Given the description of an element on the screen output the (x, y) to click on. 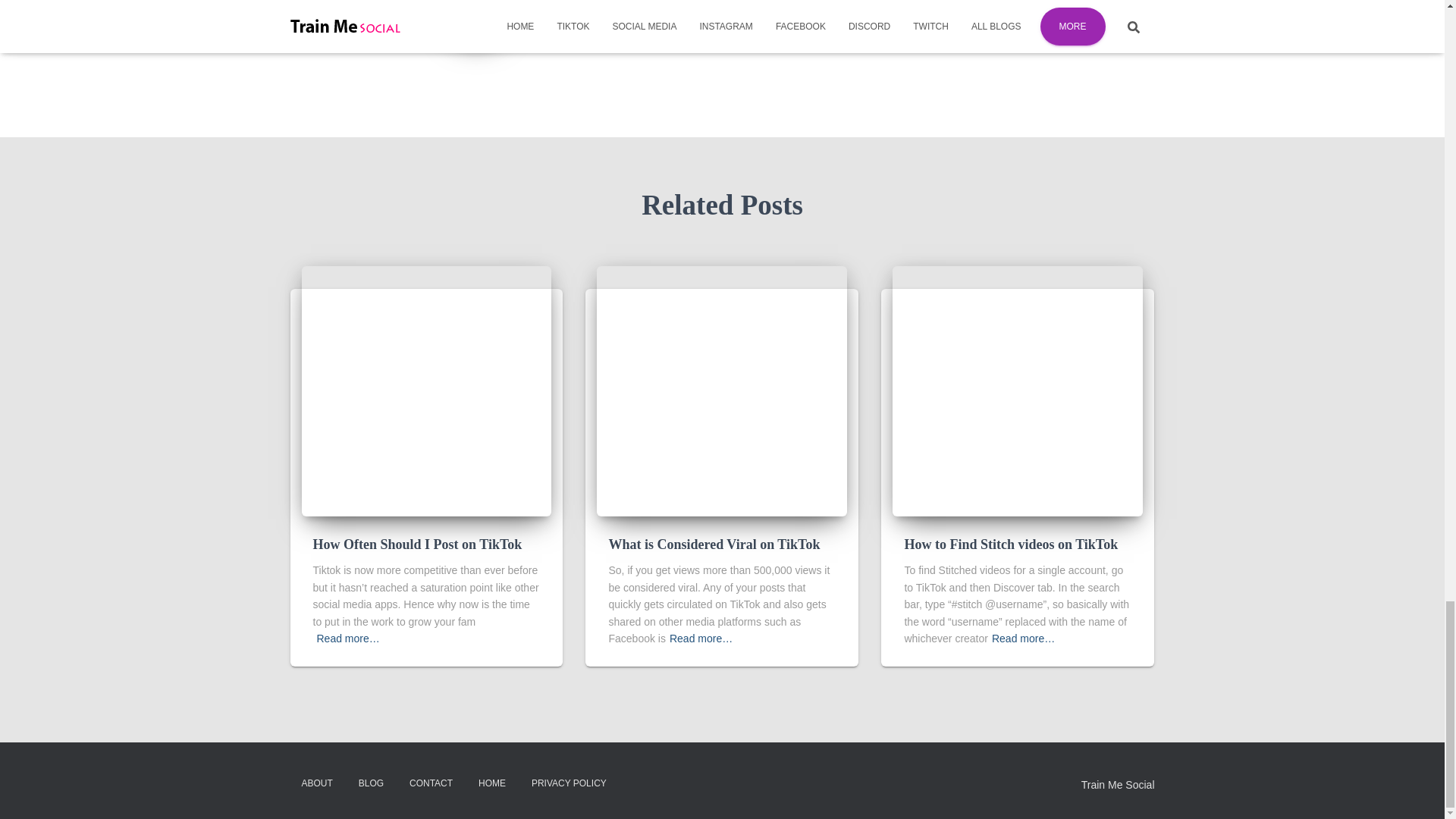
How to Find Stitch videos on TikTok (1011, 544)
CONTACT (430, 783)
ABOUT (316, 783)
What is Considered Viral on TikTok (713, 544)
BLOG (370, 783)
How Often Should I Post on TikTok (417, 544)
